Given the description of an element on the screen output the (x, y) to click on. 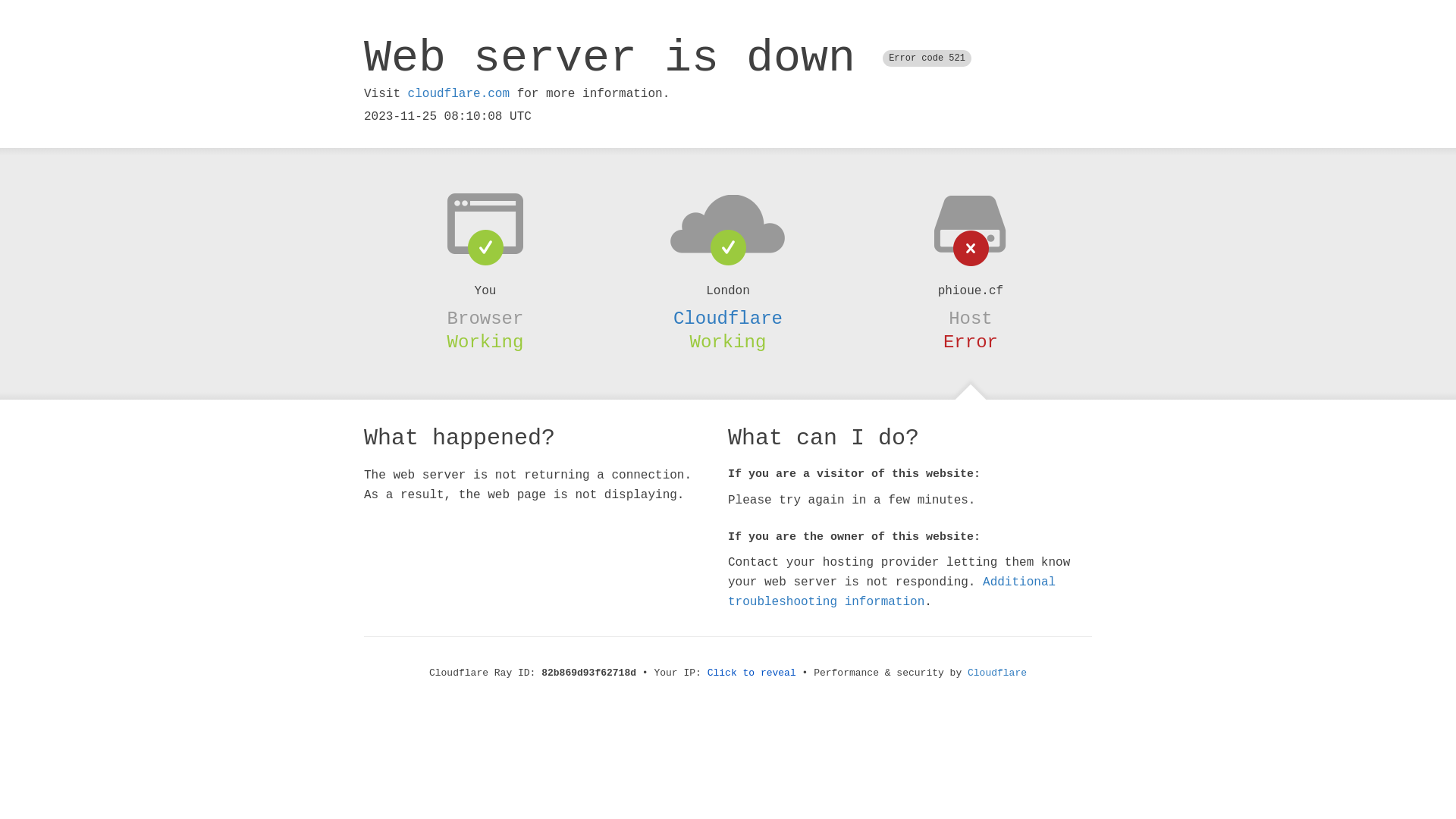
Cloudflare Element type: text (727, 318)
Cloudflare Element type: text (996, 672)
Additional troubleshooting information Element type: text (891, 591)
Click to reveal Element type: text (751, 672)
cloudflare.com Element type: text (458, 93)
